Given the description of an element on the screen output the (x, y) to click on. 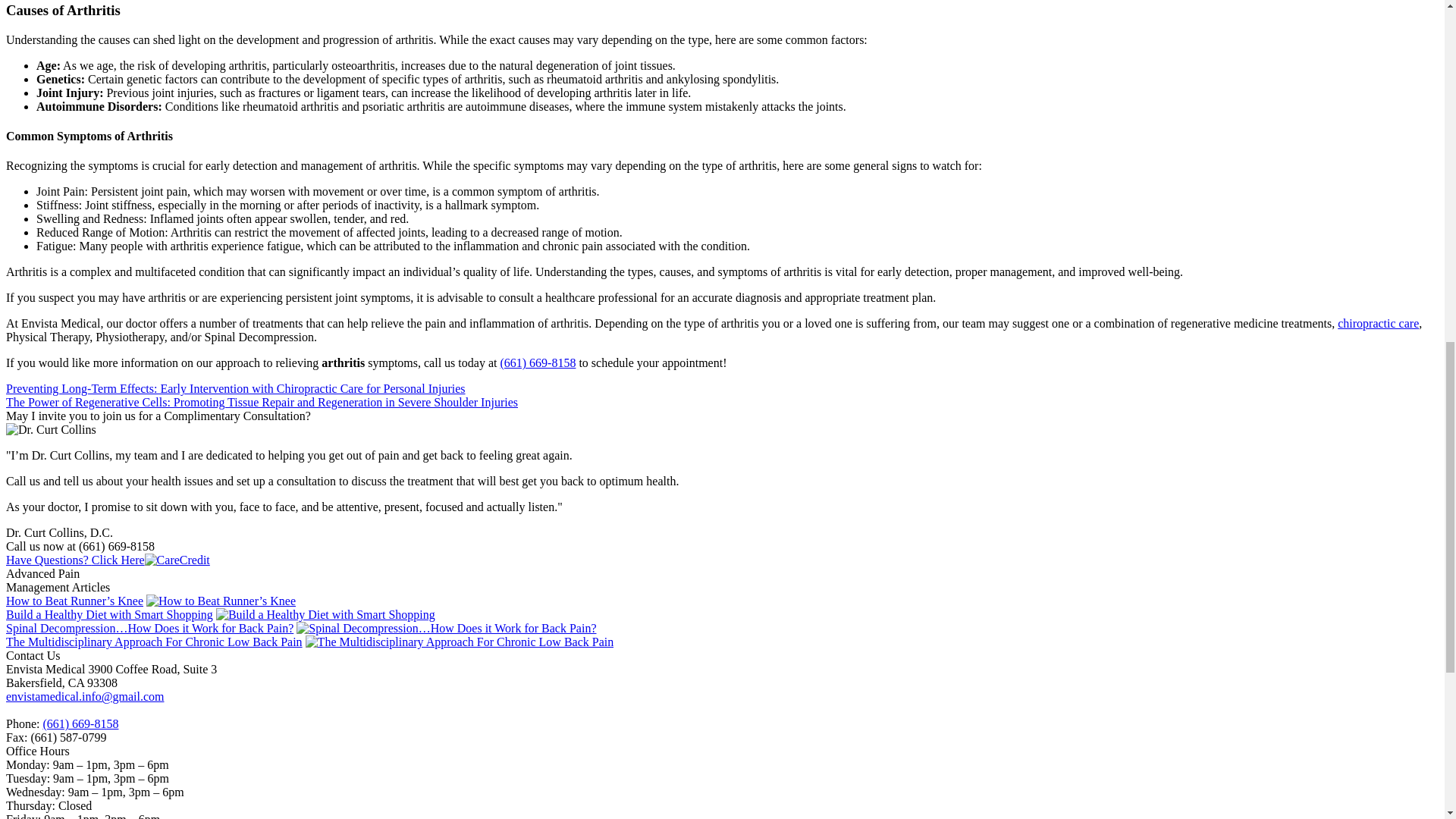
The Multidisciplinary Approach For Chronic Low Back Pain (459, 641)
Build a Healthy Diet with Smart Shopping (325, 614)
